Given the description of an element on the screen output the (x, y) to click on. 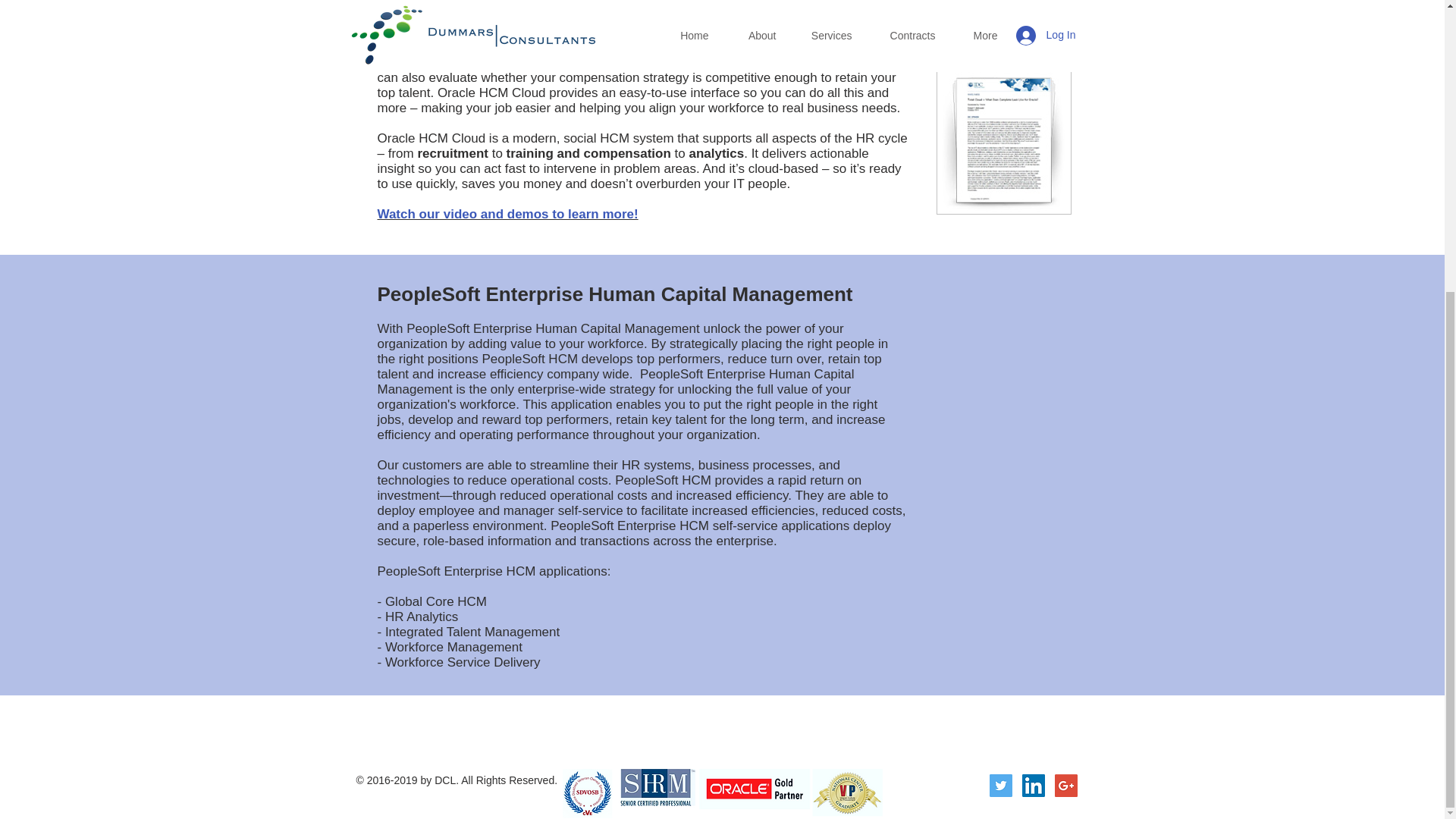
Watch our video and demos to learn more! (508, 214)
